Given the description of an element on the screen output the (x, y) to click on. 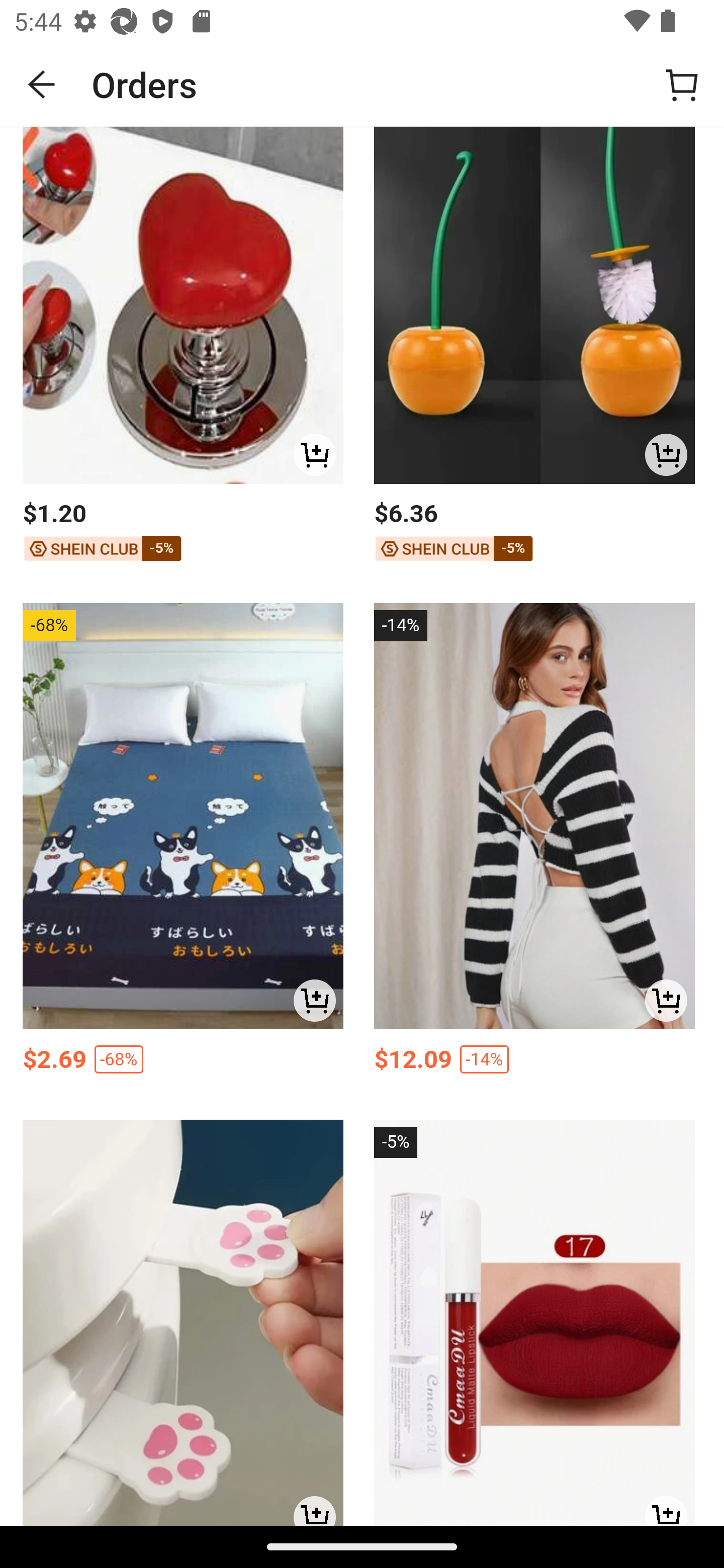
BACK (42, 84)
Cart (681, 84)
$1.20 sui_icon_paidmember_Label@3x-91f33d47f8 -5% (182, 532)
$6.36 sui_icon_paidmember_Label@3x-91f33d47f8 -5% (534, 532)
$2.69 -68% (182, 1064)
$12.09 -14% (534, 1064)
